Given the description of an element on the screen output the (x, y) to click on. 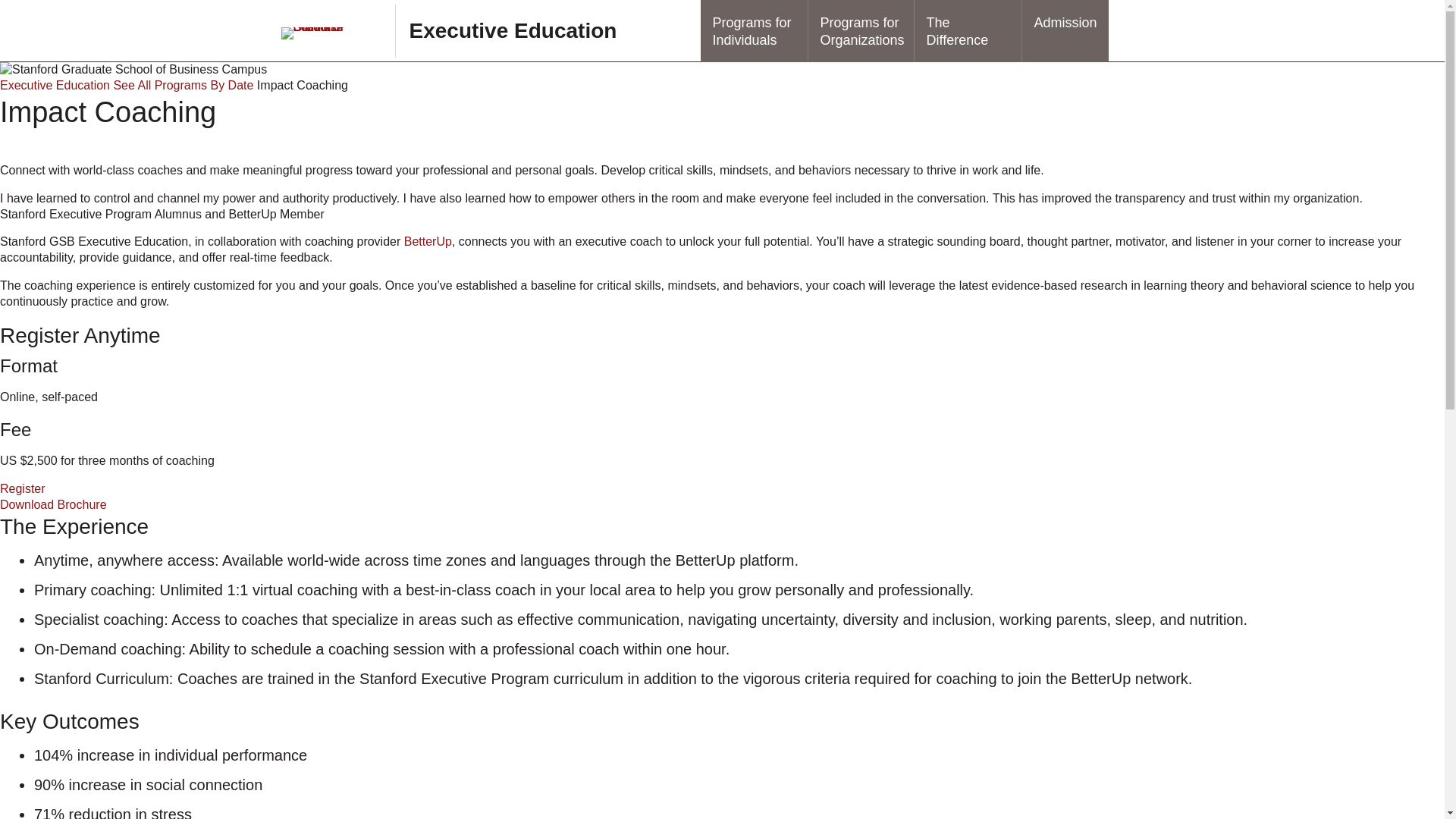
The Difference (968, 31)
Executive Education (513, 30)
Stanford Graduate School of Business (329, 33)
Programs for Individuals (754, 31)
Programs for Organizations (861, 31)
